Given the description of an element on the screen output the (x, y) to click on. 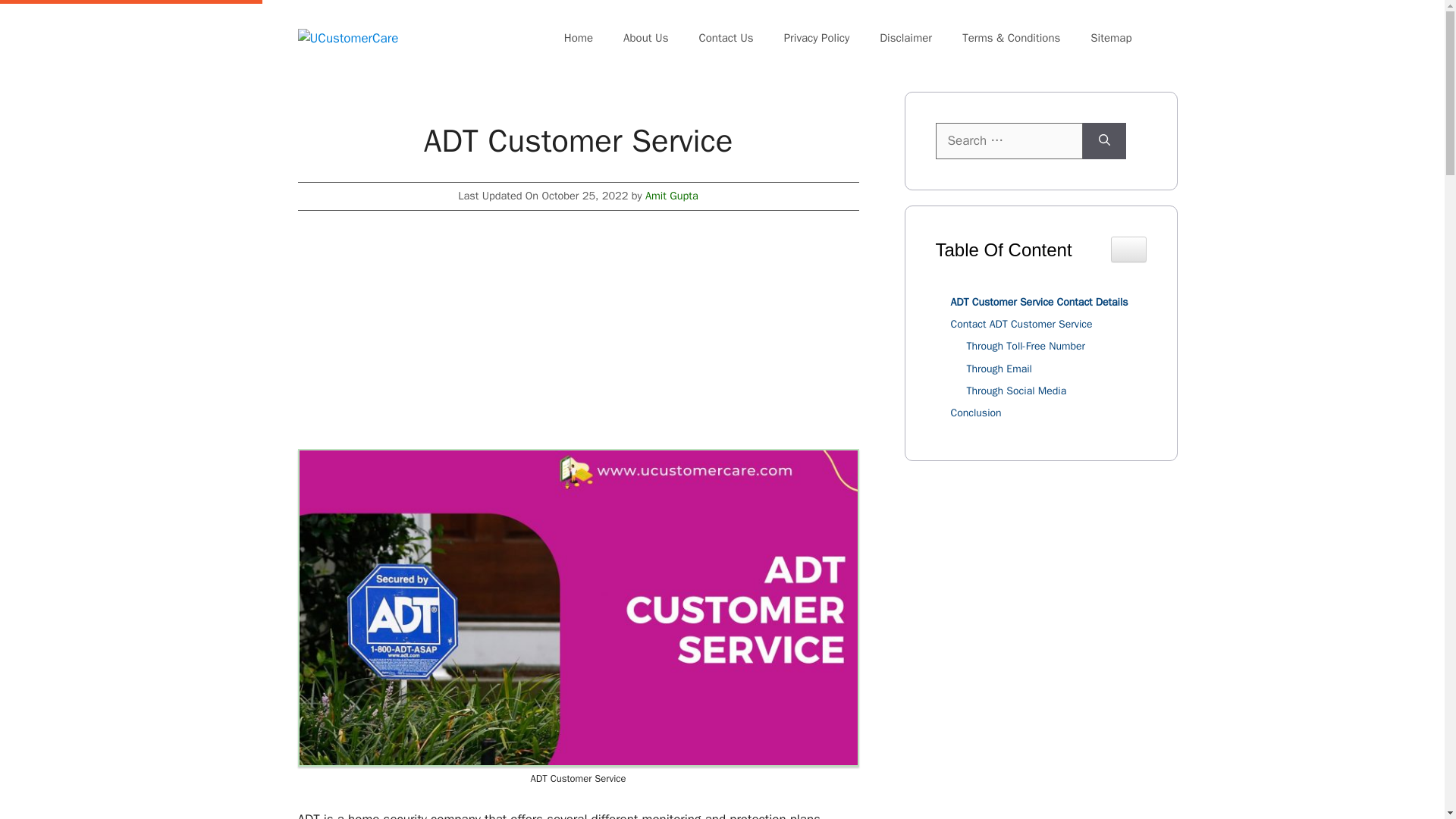
Disclaimer (905, 37)
Through Toll-Free Number (1021, 346)
View all posts by Amit Gupta (671, 195)
Amit Gupta (671, 195)
Sitemap (1111, 37)
Contact Us (725, 37)
Toggle Table of Content (1127, 249)
Contact ADT Customer Service (1018, 324)
Privacy Policy (816, 37)
